Given the description of an element on the screen output the (x, y) to click on. 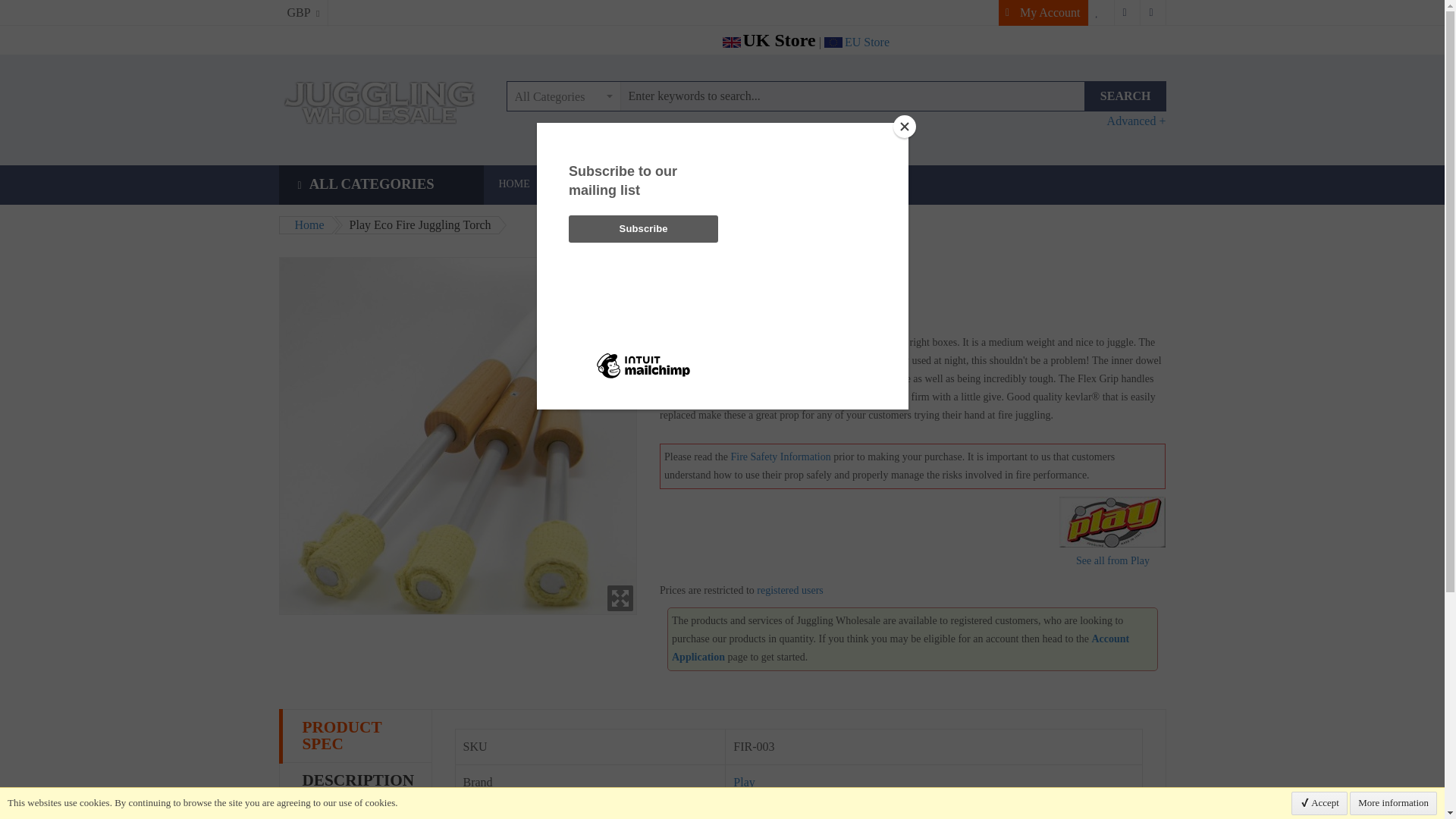
UK Store (768, 39)
My Wishlist (1102, 12)
Play Eco Fire Juggling Torch (457, 436)
EU Store (856, 42)
My Account (1043, 12)
Log In (1153, 12)
Play (1112, 521)
Enter keywords to search... (795, 96)
Checkout (1127, 12)
My Account (1043, 12)
Log In (1153, 12)
Search (1125, 96)
JWS Europe LTD (381, 103)
Go to Home Page (305, 225)
Checkout (1127, 12)
